Given the description of an element on the screen output the (x, y) to click on. 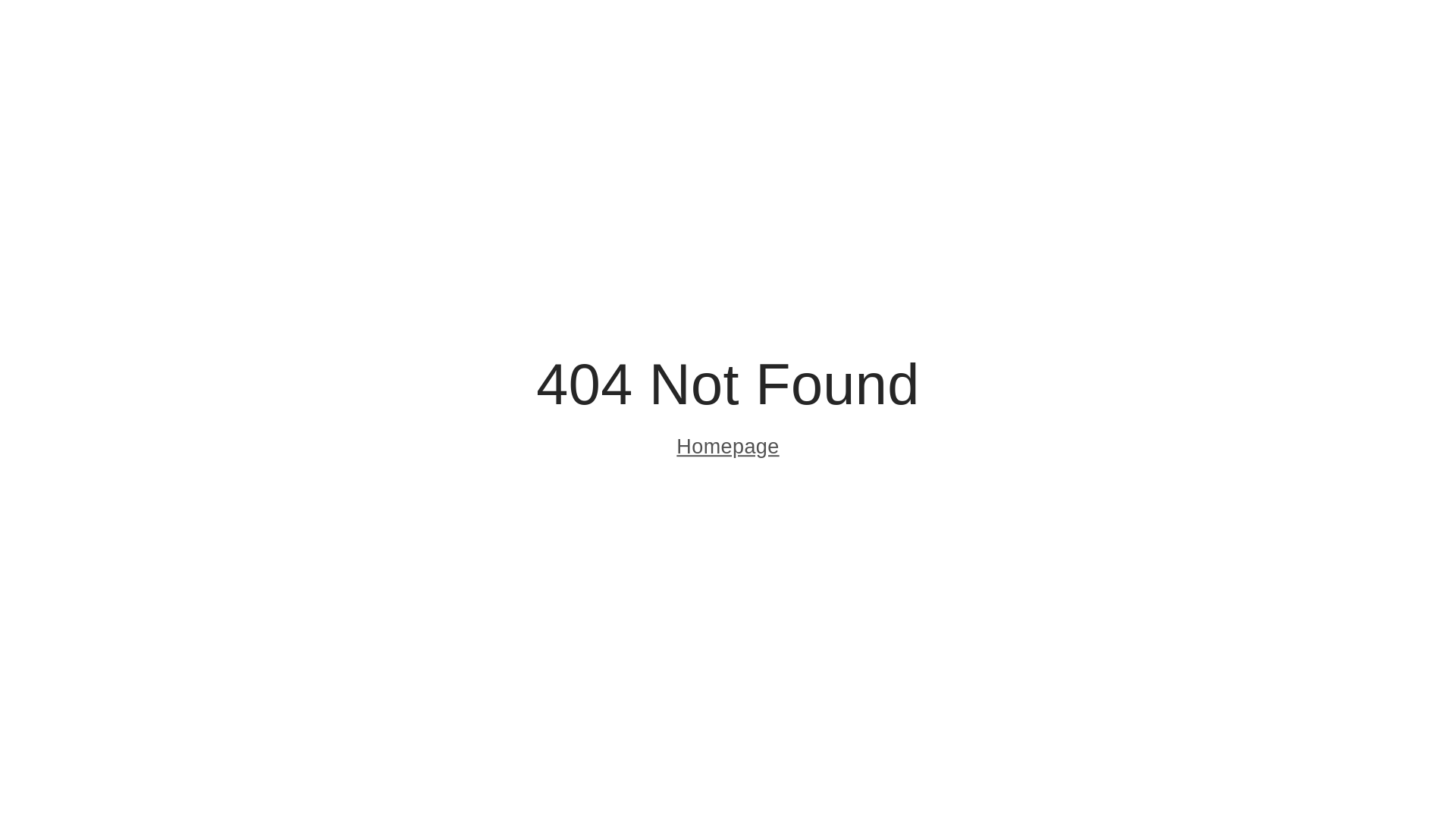
Homepage Element type: text (727, 448)
